Given the description of an element on the screen output the (x, y) to click on. 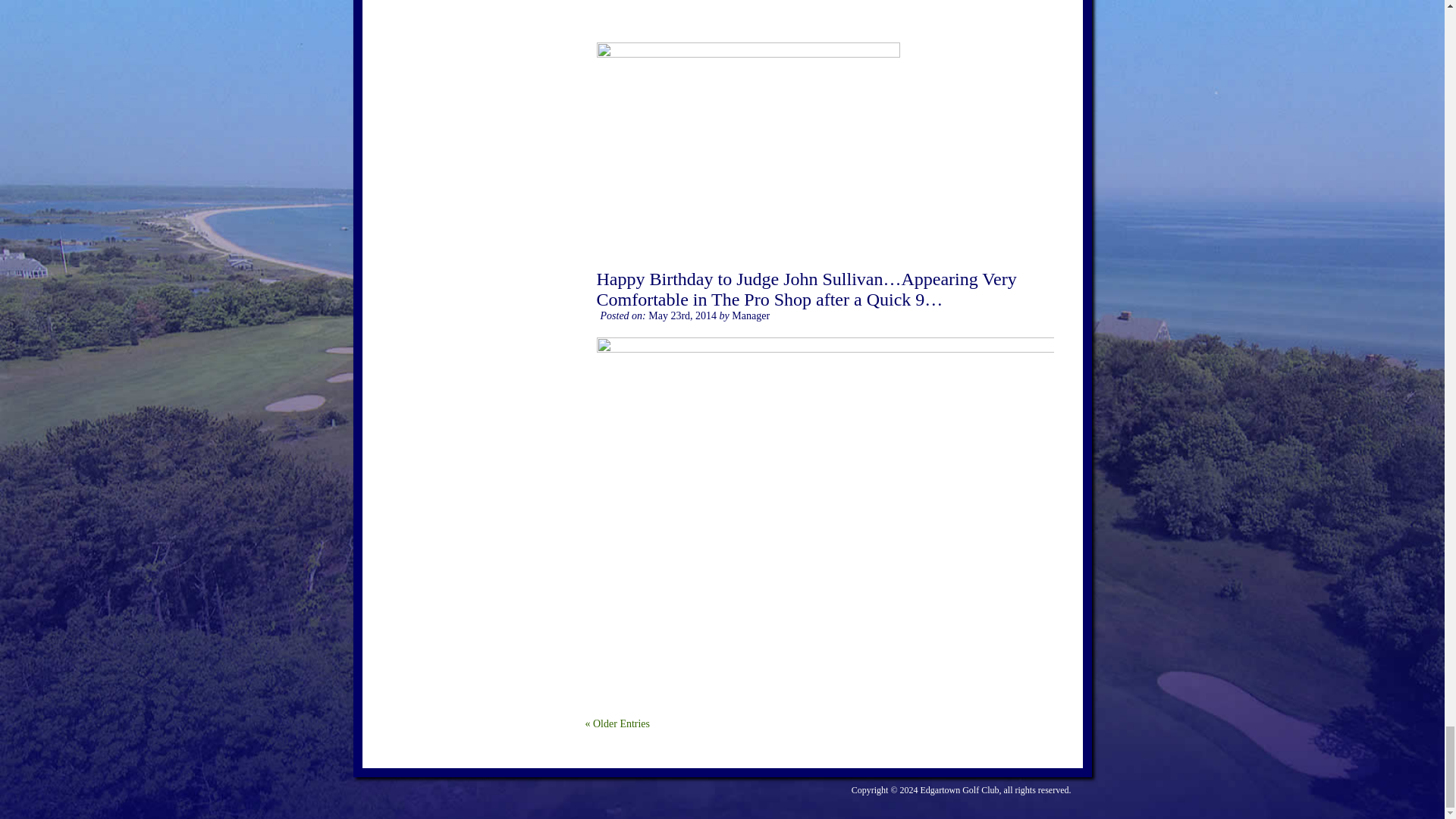
DSCN0386 (823, 20)
